Given the description of an element on the screen output the (x, y) to click on. 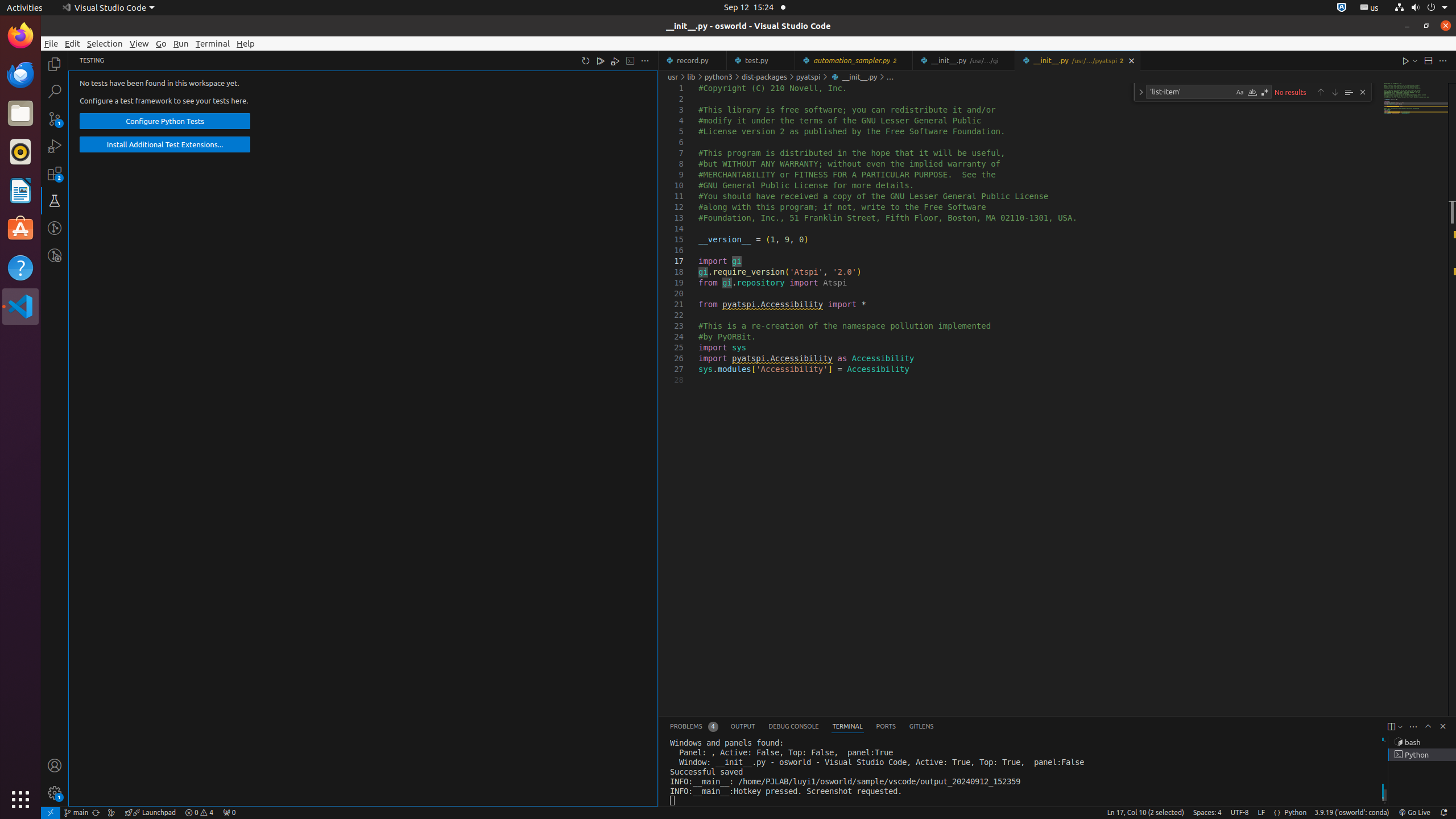
Split Terminal (Ctrl+Shift+5) Element type: push-button (1390, 726)
OSWorld (Git) - main, Checkout Branch/Tag... Element type: push-button (75, 812)
Show the GitLens Commit Graph Element type: push-button (111, 812)
__init__.py Element type: page-tab (1077, 60)
test.py Element type: page-tab (760, 60)
